Given the description of an element on the screen output the (x, y) to click on. 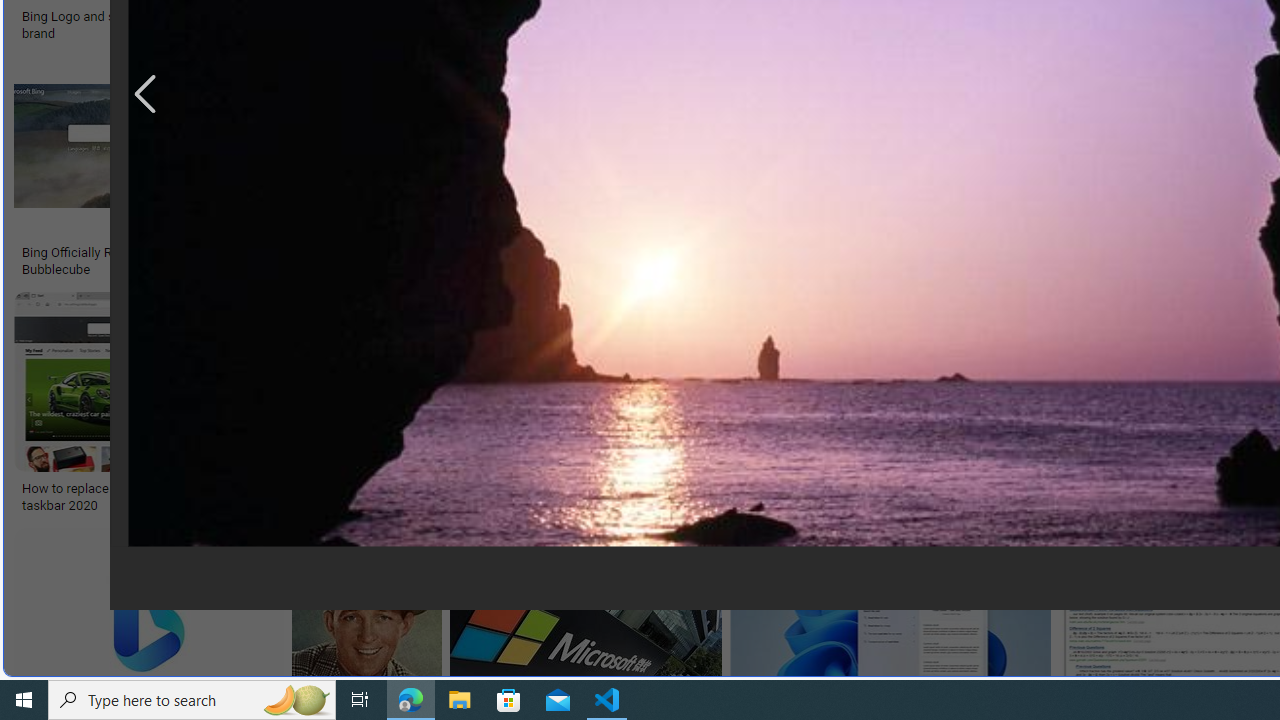
How to replace Bing in Windows 10 search on the taskbar 2020 (164, 497)
Bing - SEOLendSave (493, 169)
How to replace Bing in Windows 10 search on the taskbar 2020 (164, 497)
Bing Logo and symbol, meaning, history, PNG, brand (170, 24)
